Given the description of an element on the screen output the (x, y) to click on. 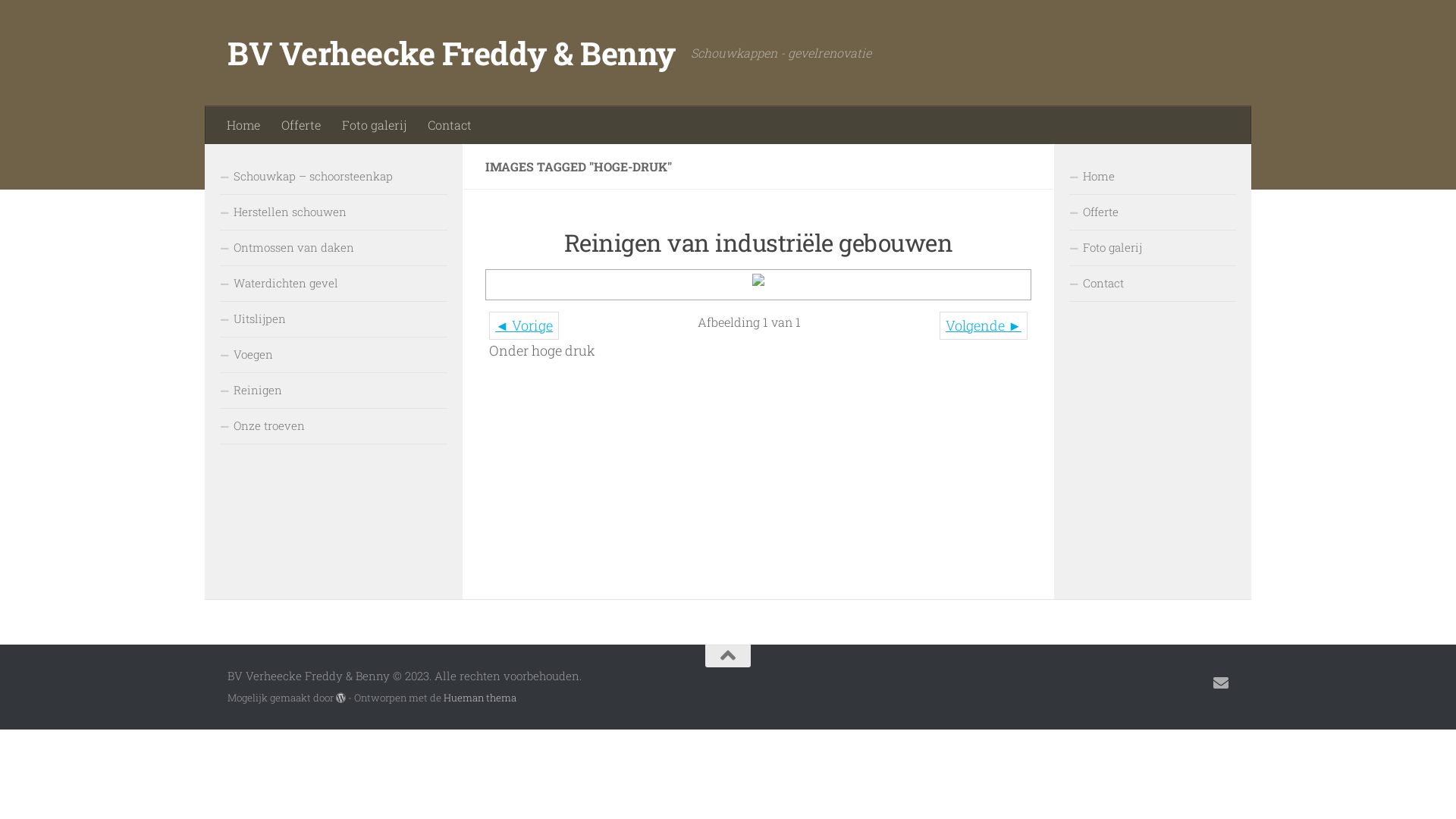
Onze troeven Element type: text (333, 426)
Home Element type: text (243, 125)
Herstellen schouwen Element type: text (333, 212)
Waterdichten gevel Element type: text (333, 283)
Voegen Element type: text (333, 355)
Contact Element type: text (449, 125)
Hueman thema Element type: text (479, 697)
Uitslijpen Element type: text (333, 319)
Foto galerij Element type: text (1152, 248)
Stuur ons een mail Element type: hover (1220, 682)
Home Element type: text (1152, 176)
Foto galerij Element type: text (374, 125)
Reinigen Element type: text (333, 390)
Ontmossen van daken Element type: text (333, 248)
Offerte Element type: text (300, 125)
Contact Element type: text (1152, 283)
Mogelijk gemaakt door WordPress Element type: hover (340, 697)
Offerte Element type: text (1152, 212)
Onder hoge druk Element type: hover (757, 284)
Doorgaan naar inhoud Element type: text (84, 21)
BV Verheecke Freddy & Benny Element type: text (451, 52)
